Given the description of an element on the screen output the (x, y) to click on. 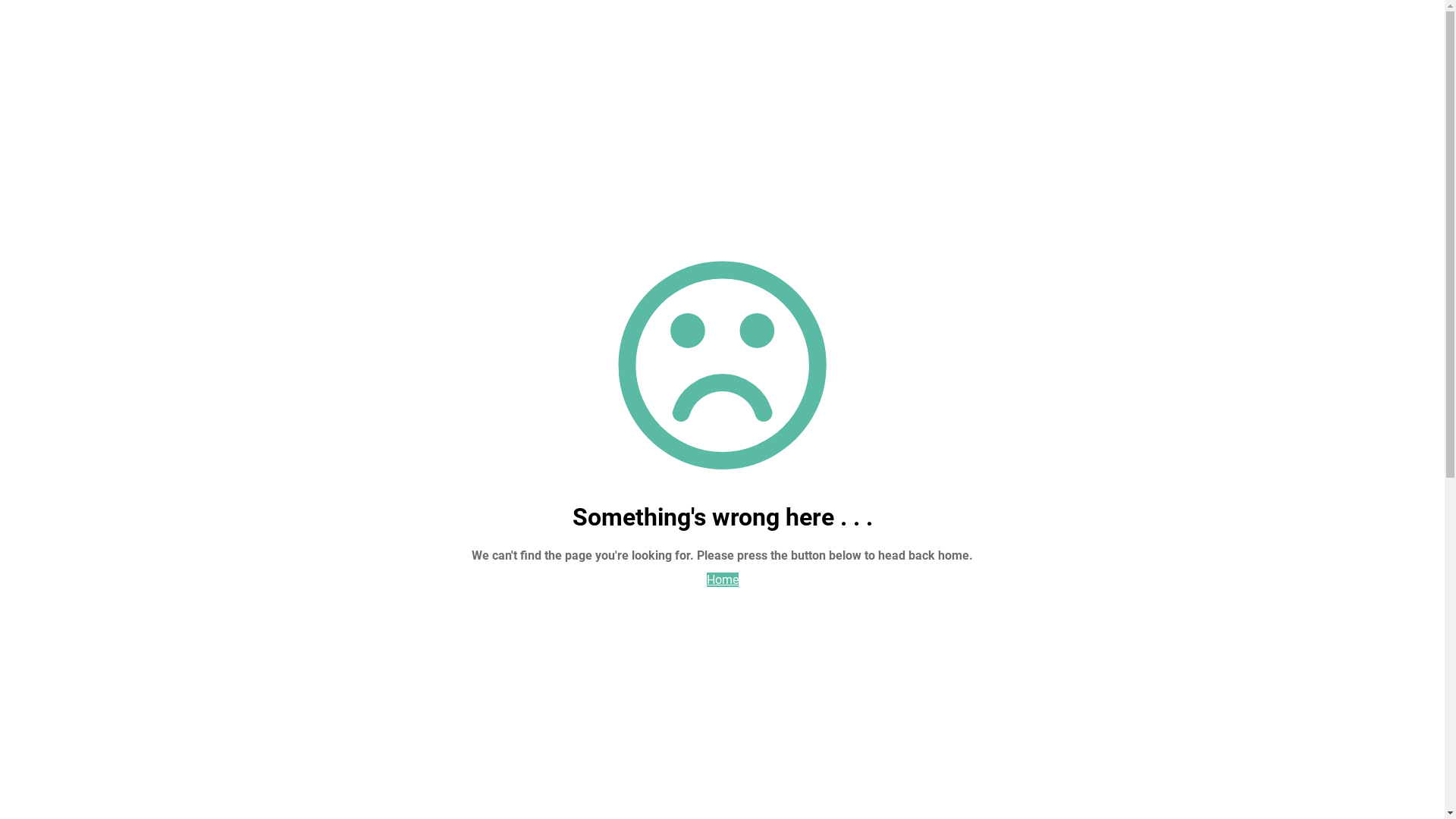
Home Element type: text (722, 579)
